Given the description of an element on the screen output the (x, y) to click on. 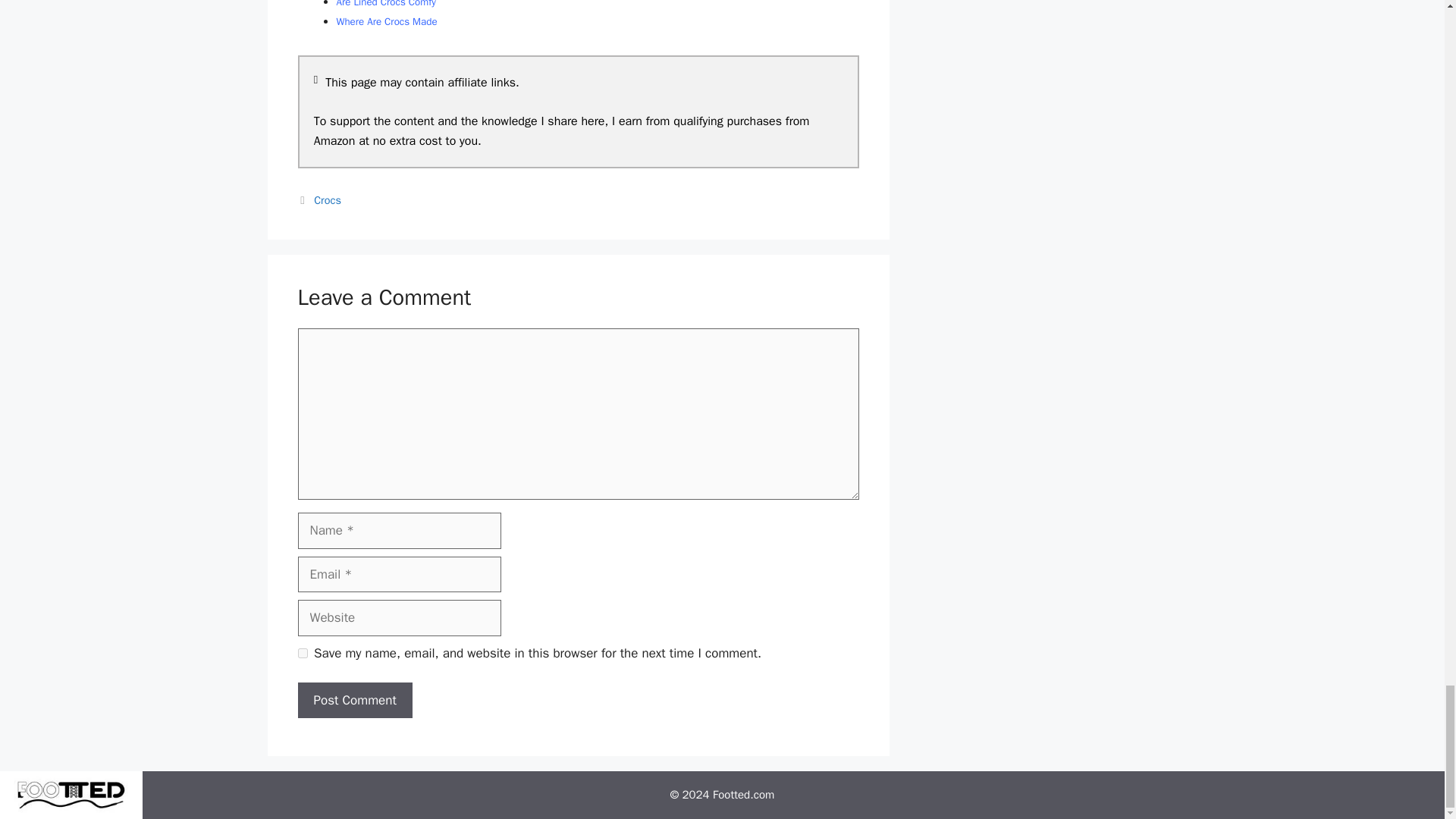
Post Comment (354, 700)
Are Lined Crocs Comfy (385, 4)
Where Are Crocs Made (387, 21)
Post Comment (354, 700)
Crocs (327, 200)
yes (302, 653)
